Given the description of an element on the screen output the (x, y) to click on. 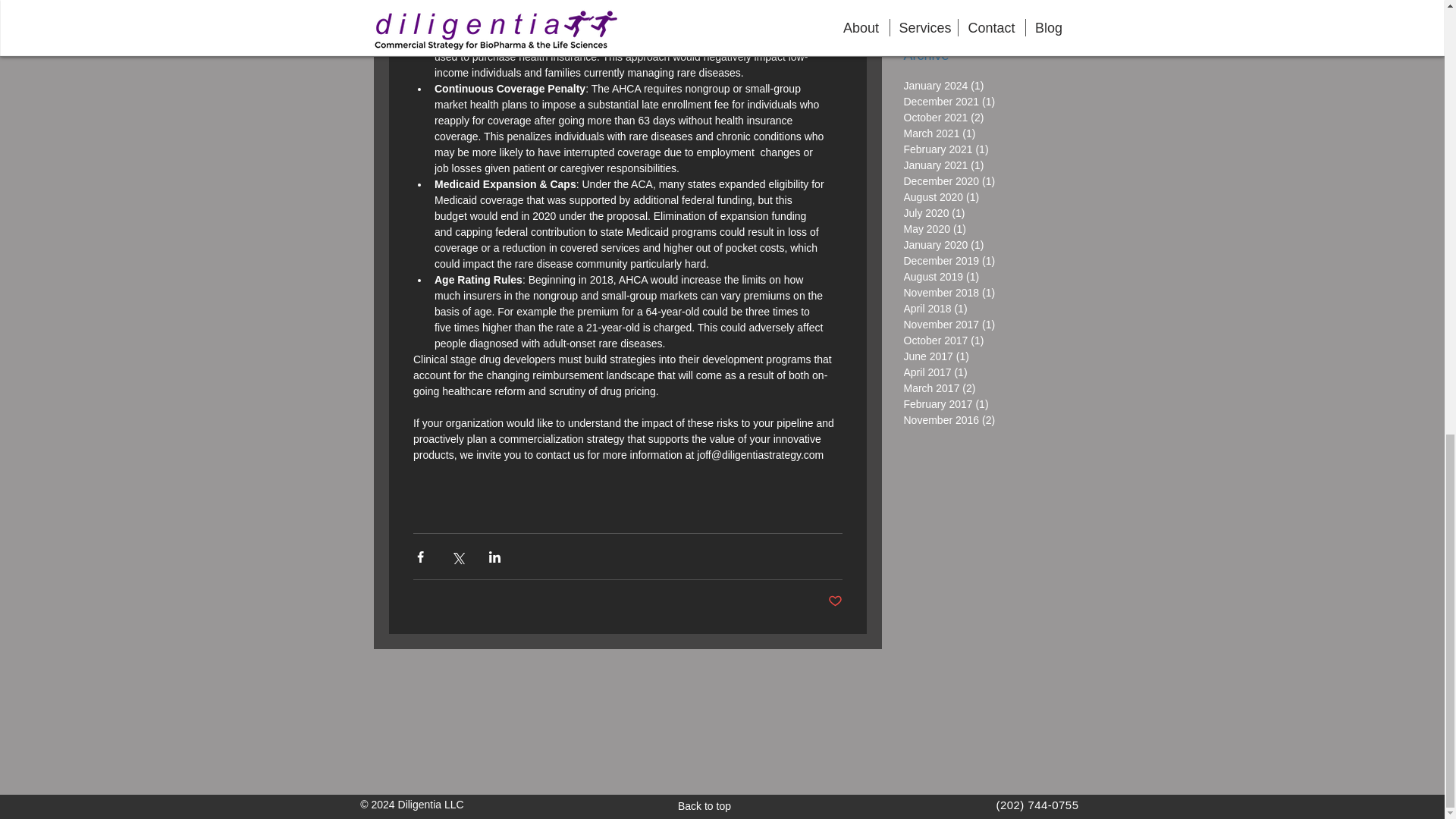
National Burden of Rare Disease Survey (992, 11)
Post not marked as liked (835, 601)
